Given the description of an element on the screen output the (x, y) to click on. 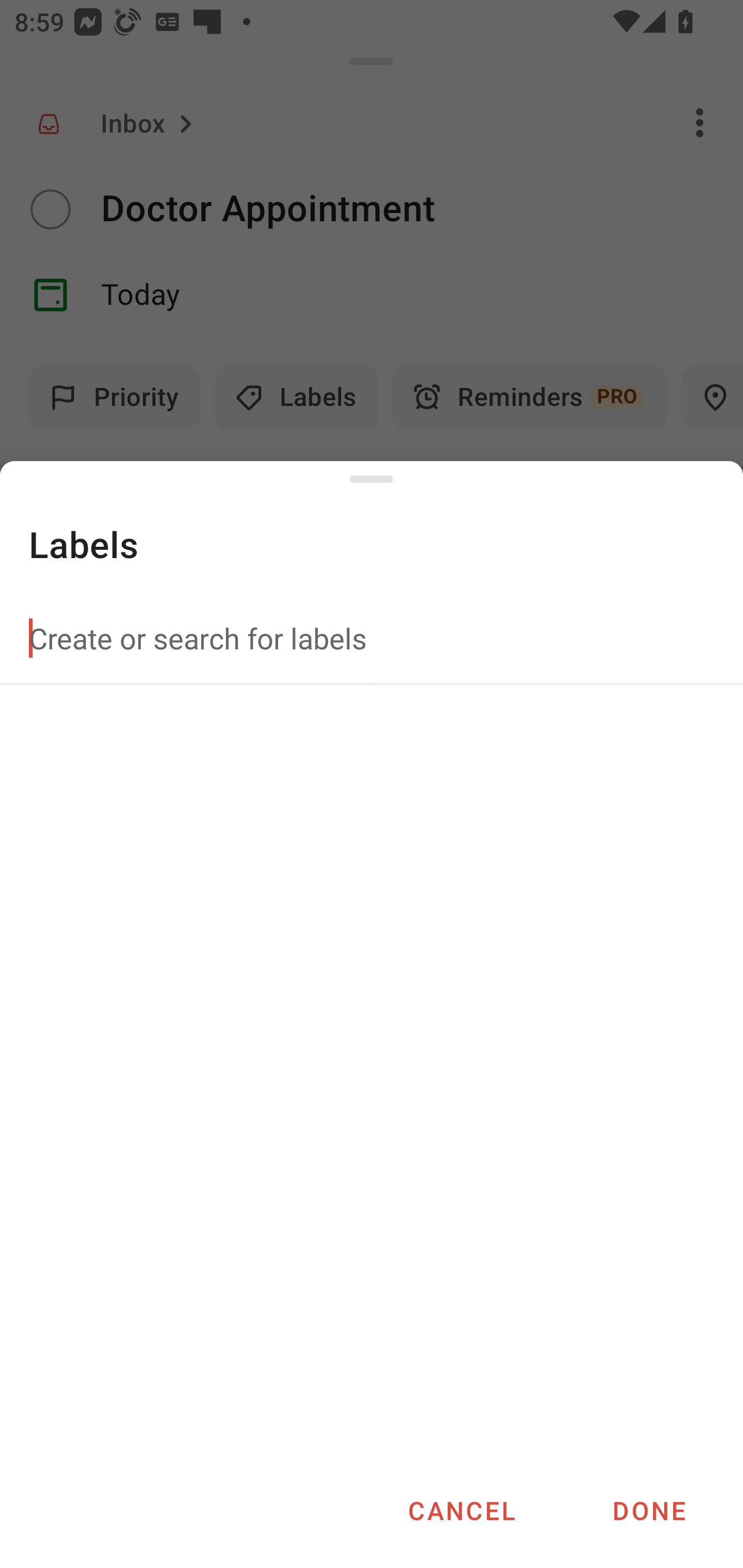
Create or search for labels (371, 638)
CANCEL (460, 1510)
DONE (648, 1510)
